Given the description of an element on the screen output the (x, y) to click on. 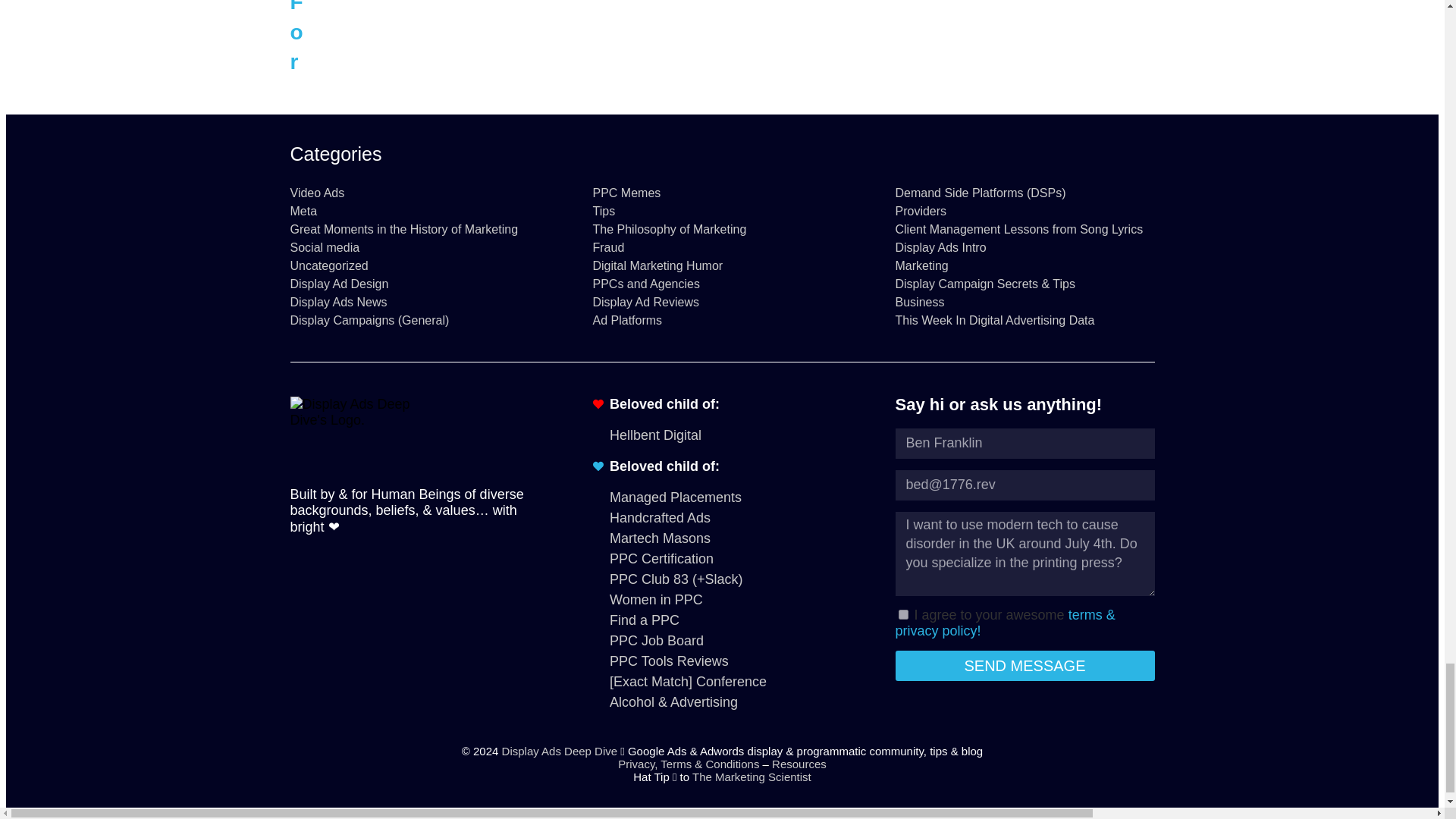
Display Ads Intro (1024, 247)
Display Ad Design (418, 284)
Digital Marketing Humor (721, 265)
The Philosophy of Marketing (721, 229)
Display Ads News (418, 302)
Great Moments in the History of Marketing (418, 229)
Video Ads (418, 192)
Meta (418, 211)
PPC Memes (721, 192)
Uncategorized (418, 265)
